Given the description of an element on the screen output the (x, y) to click on. 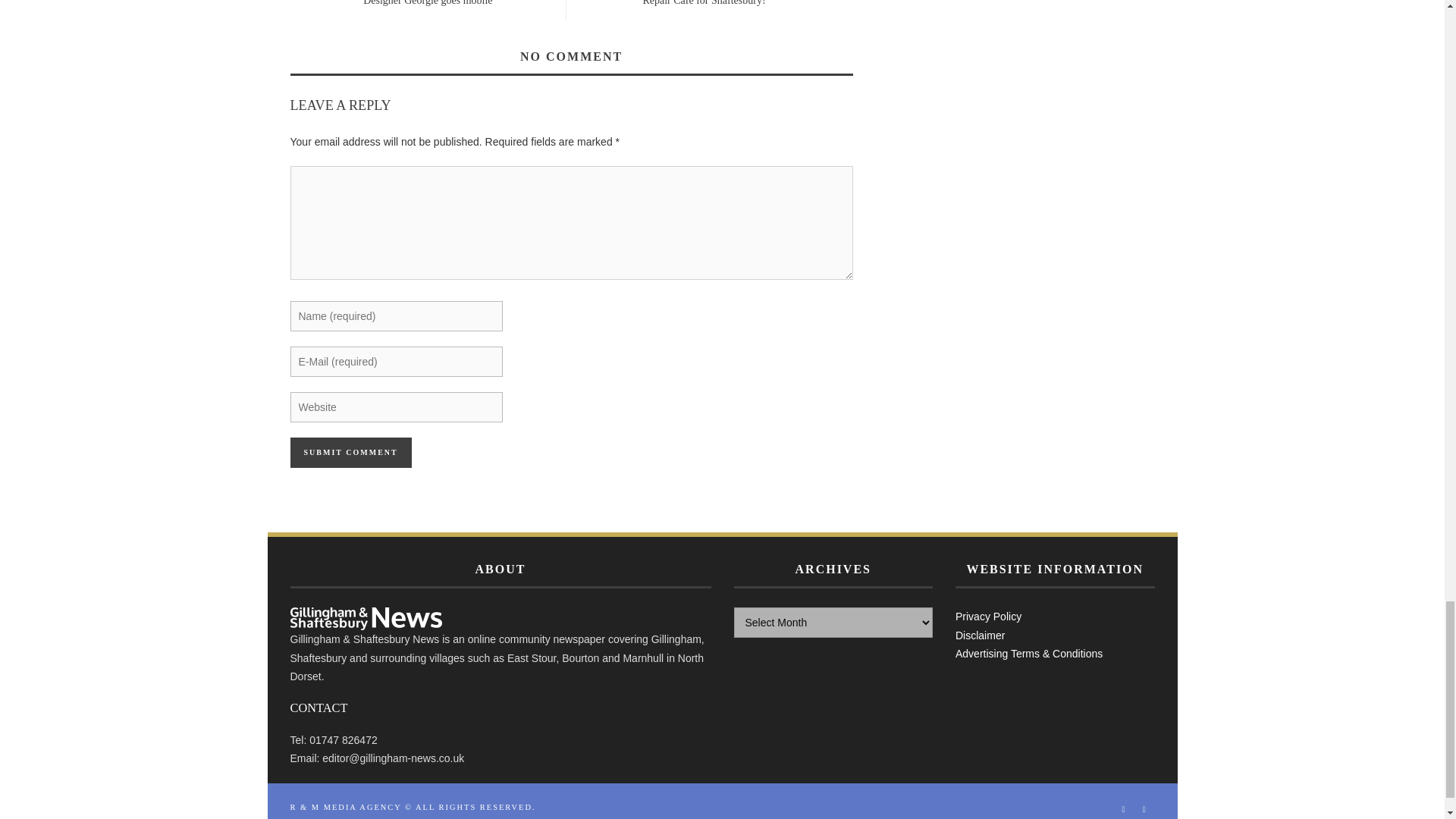
Twitter (1144, 808)
Submit comment (349, 452)
Facebook (1123, 808)
